Given the description of an element on the screen output the (x, y) to click on. 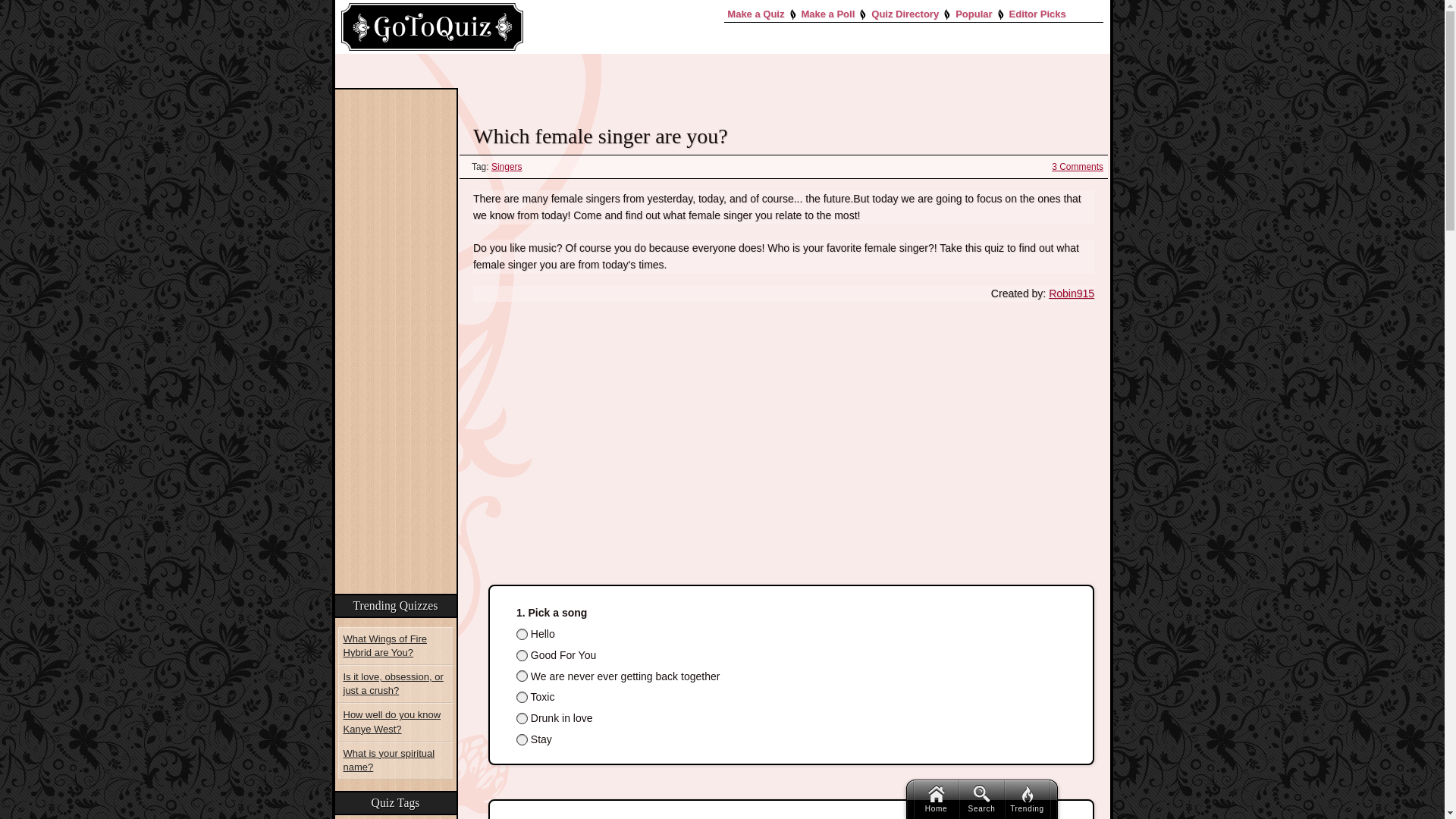
Is it love, obsession, or just a crush? (394, 683)
Popular (973, 13)
What is your spiritual name? (394, 760)
Robin915 (1071, 293)
2 (521, 655)
3 Comments (1077, 166)
Editor Picks (1037, 13)
1 (521, 633)
3 (521, 675)
4 (521, 696)
